Given the description of an element on the screen output the (x, y) to click on. 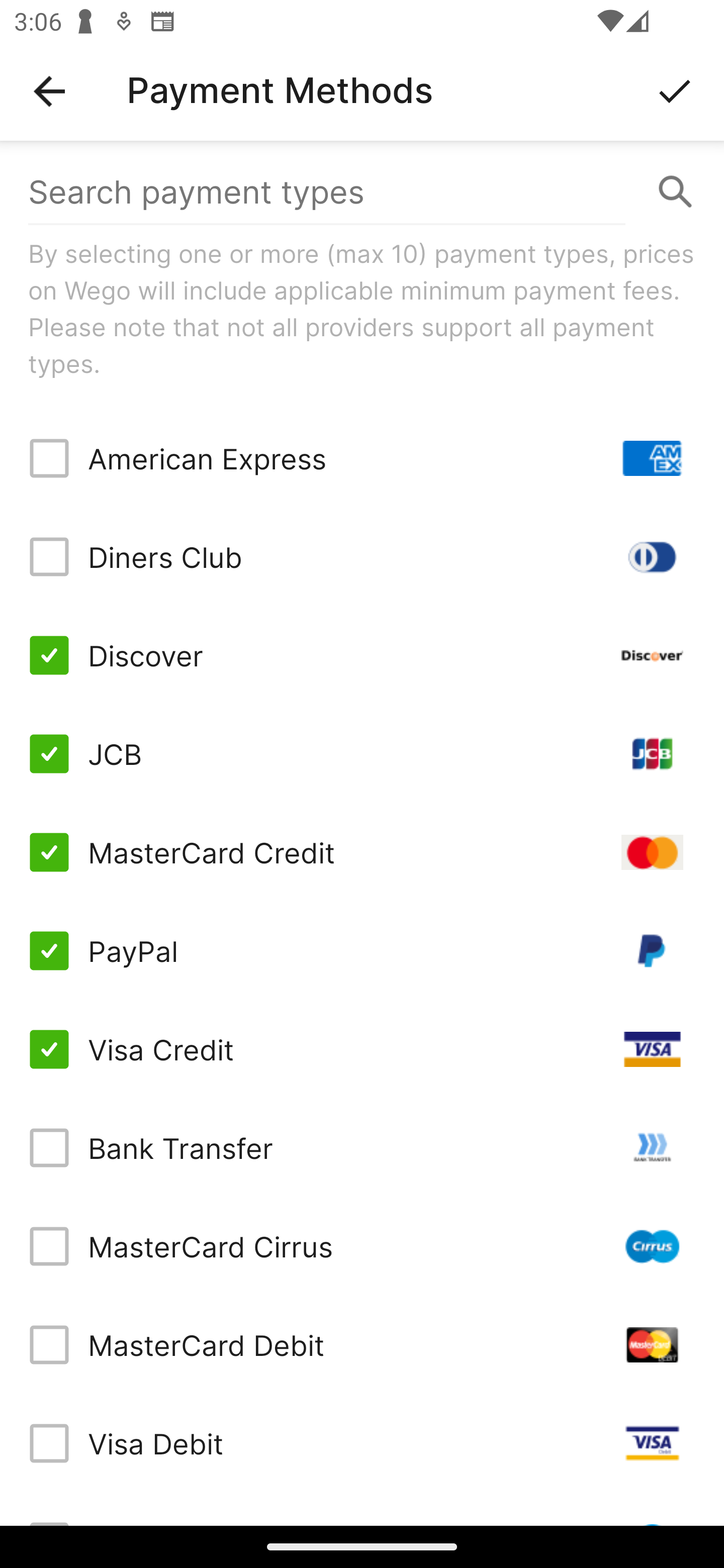
Search payment types  (361, 191)
American Express (362, 458)
Diners Club (362, 557)
Discover (362, 655)
JCB (362, 753)
MasterCard Credit (362, 851)
PayPal (362, 950)
Visa Credit (362, 1049)
Bank Transfer (362, 1147)
MasterCard Cirrus (362, 1245)
MasterCard Debit (362, 1344)
Visa Debit (362, 1442)
